Given the description of an element on the screen output the (x, y) to click on. 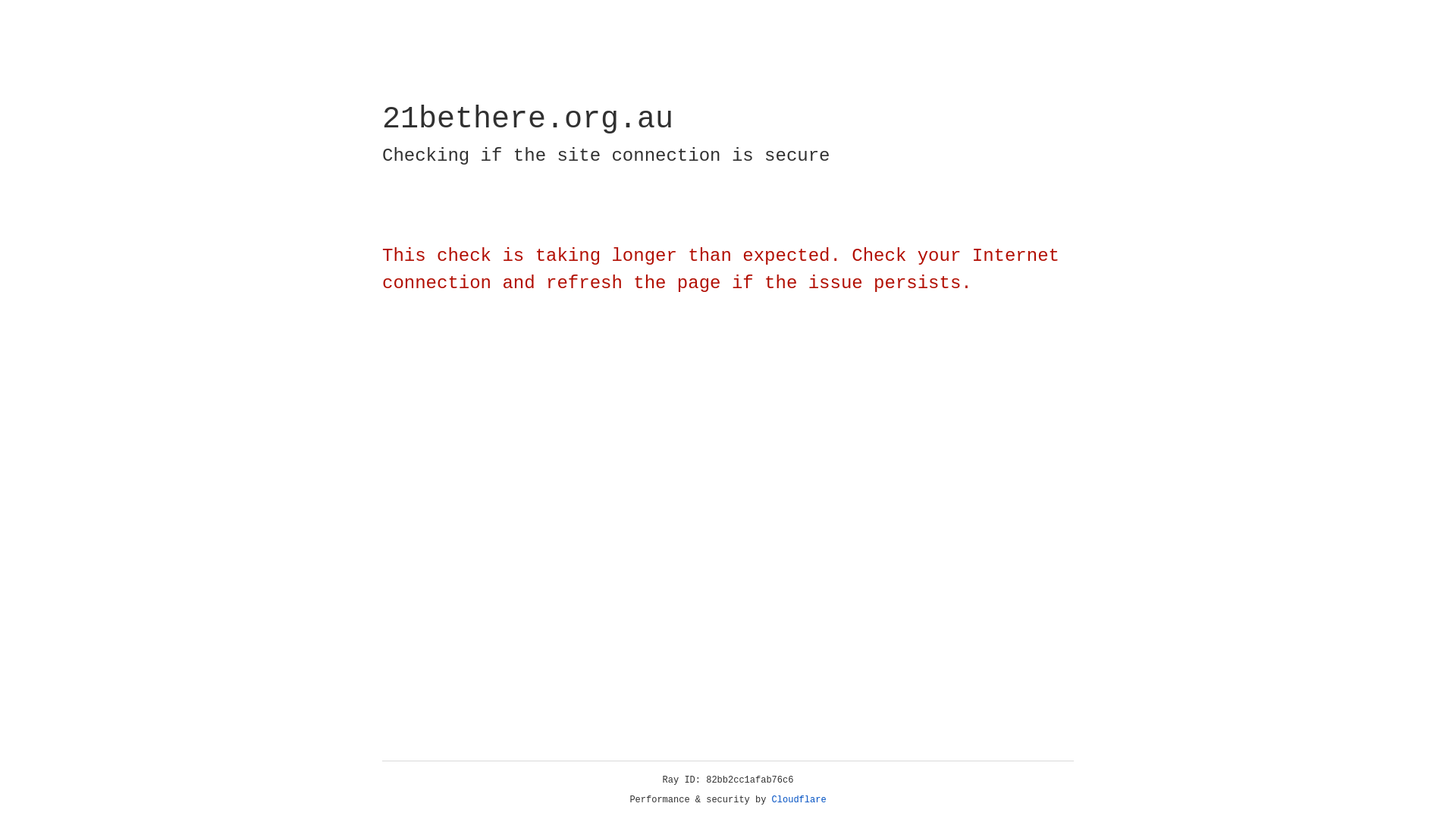
Cloudflare Element type: text (798, 799)
